Given the description of an element on the screen output the (x, y) to click on. 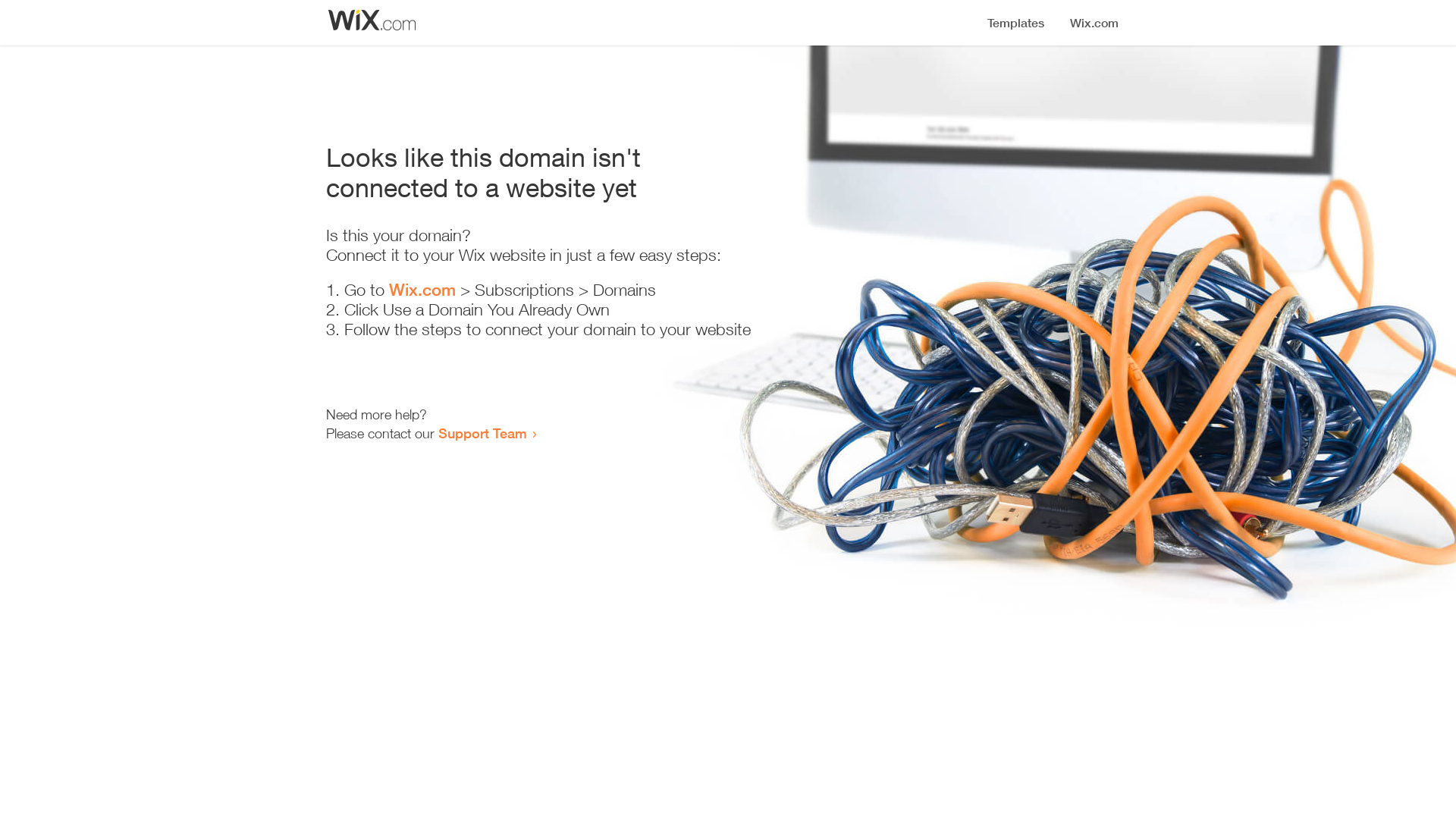
Support Team Element type: text (482, 432)
Wix.com Element type: text (422, 289)
